Given the description of an element on the screen output the (x, y) to click on. 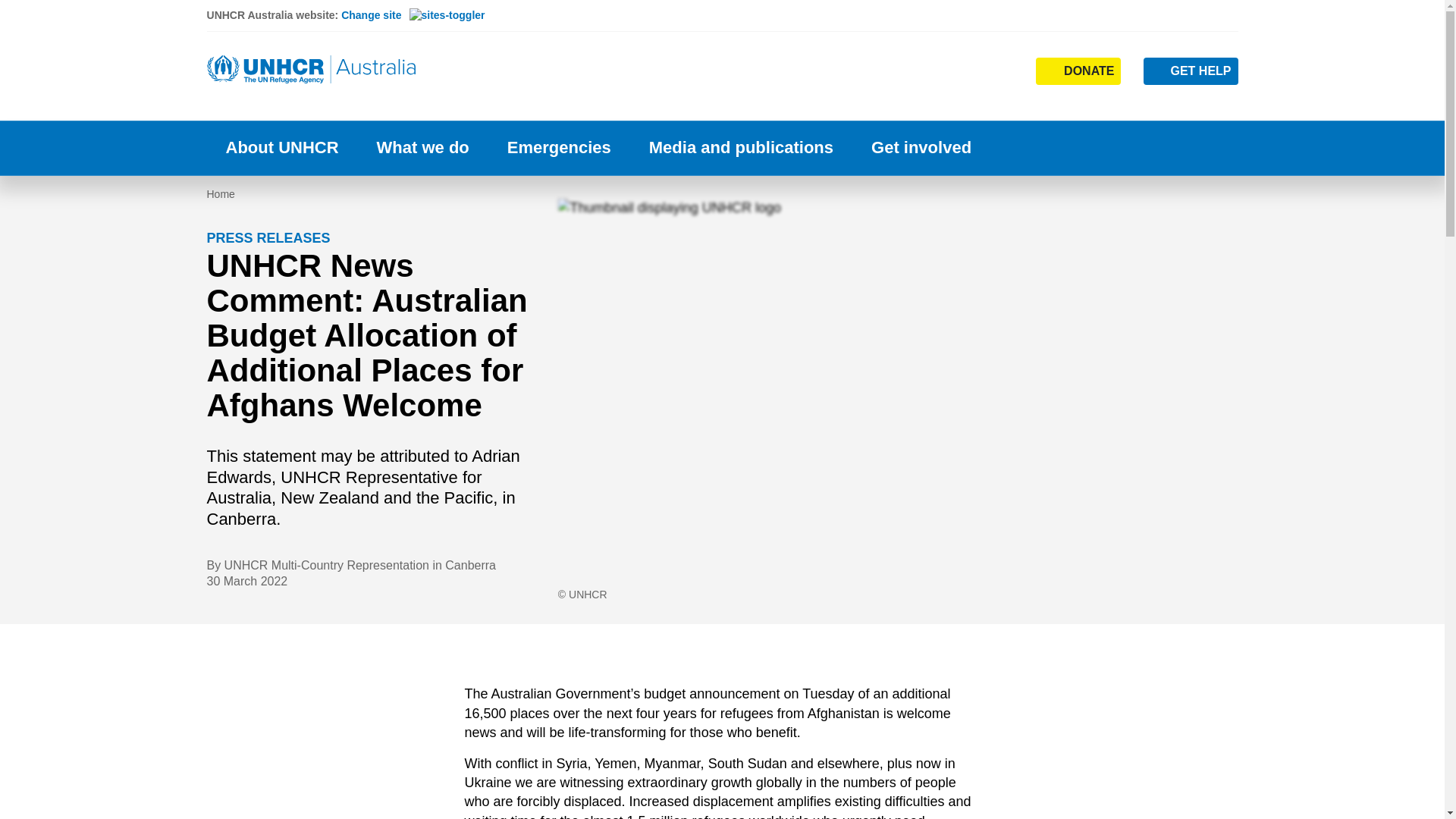
Home (312, 69)
Search (954, 99)
GET HELP (1189, 71)
Skip to main content (721, 1)
Sites (1000, 69)
About UNHCR (281, 148)
Search (952, 69)
DONATE (1078, 71)
Change site (412, 15)
